Given the description of an element on the screen output the (x, y) to click on. 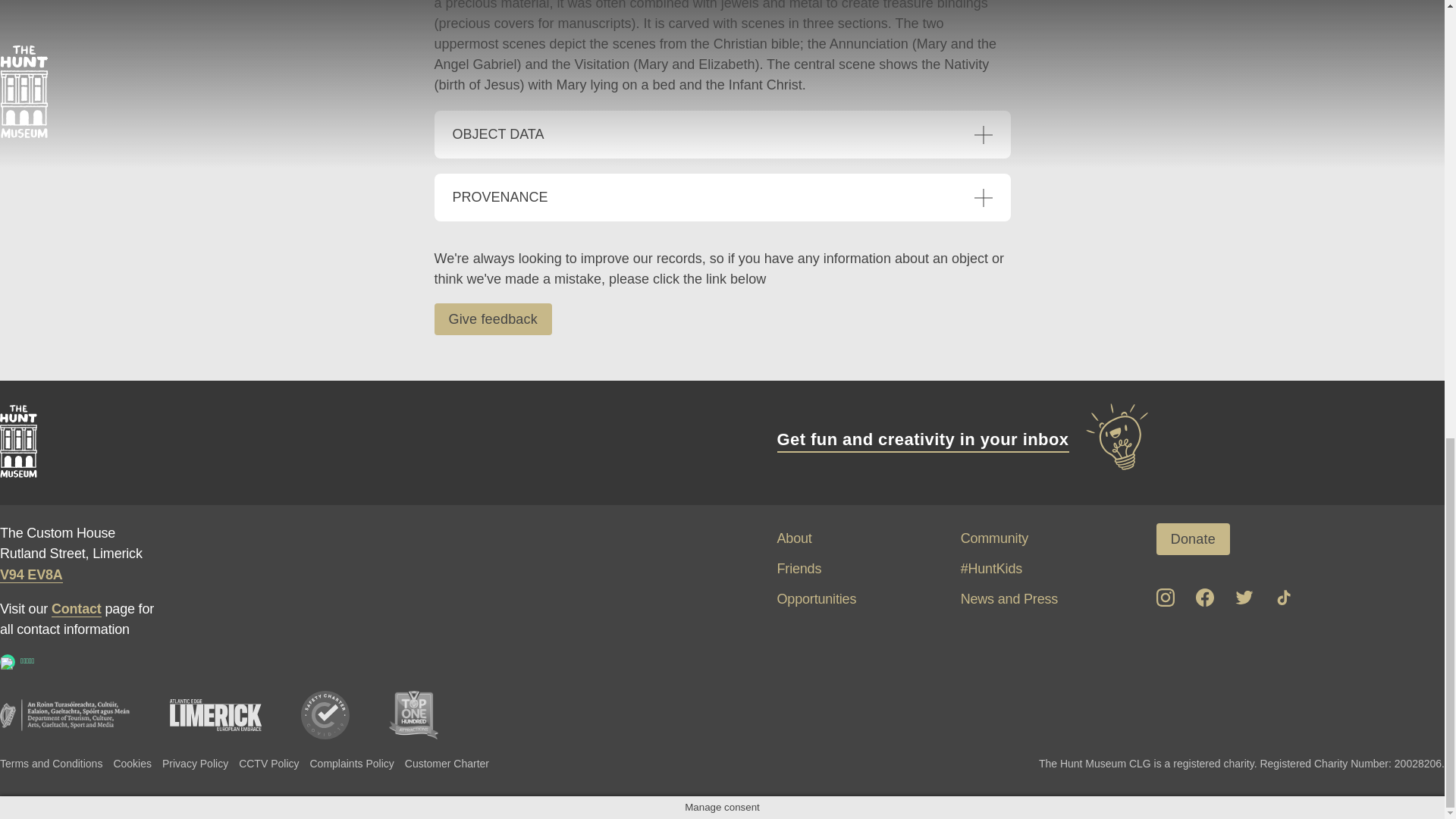
Donate (1193, 539)
About (793, 538)
Community (993, 538)
Give feedback (492, 318)
Read reviews on Tripadvisor  (7, 661)
Privacy Policy (194, 763)
Terms and Conditions (50, 763)
Opportunities (816, 598)
Customer Charter (446, 763)
Complaints Policy (350, 763)
Get fun and creativity in your inbox (963, 439)
News and Press (1009, 598)
Cookies (132, 763)
Friends (798, 568)
V94 EV8A (31, 575)
